Given the description of an element on the screen output the (x, y) to click on. 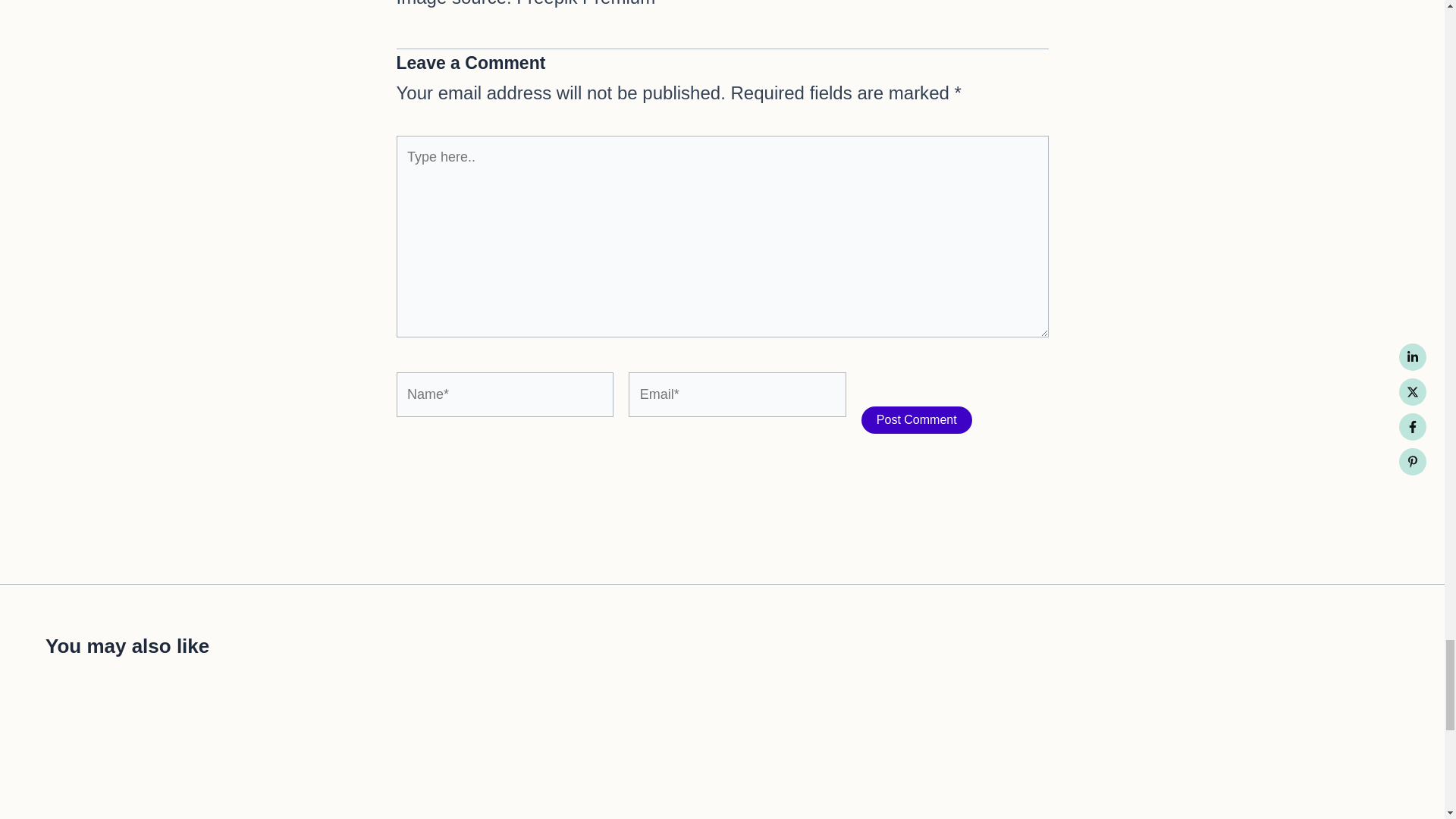
Companies Showing the Best of Innovation and Technology 4 (207, 758)
Post Comment (916, 420)
Post Comment (916, 420)
